Given the description of an element on the screen output the (x, y) to click on. 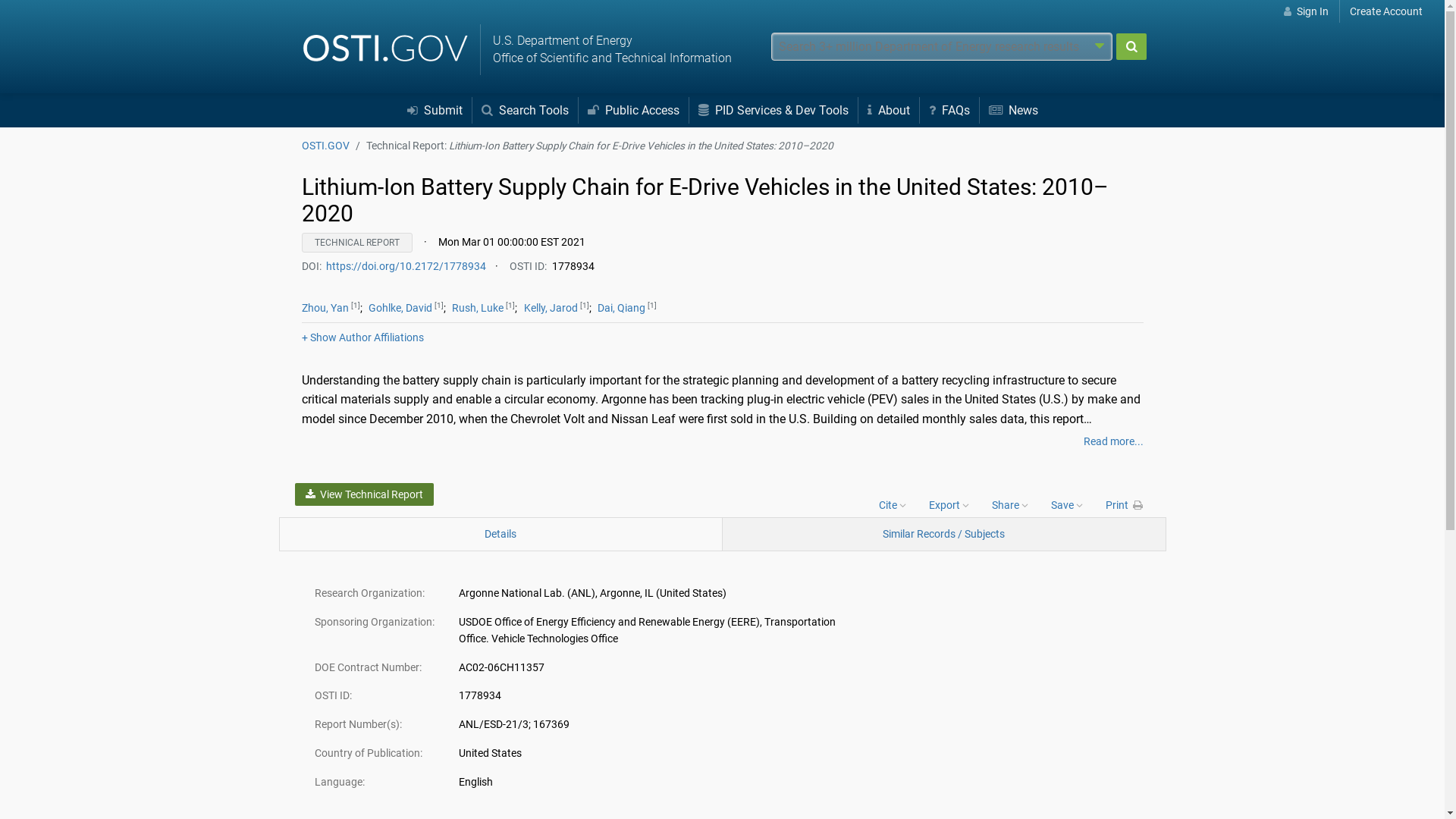
Advanced search options (1099, 46)
Public Access (632, 110)
View Technical Report (364, 494)
Create Account (1385, 11)
Submit (1131, 46)
About (888, 110)
Cite (891, 504)
FAQs (948, 110)
Search Tools (523, 110)
News (1012, 110)
Sign In (1306, 11)
OSTI.GOV (325, 145)
Submit (433, 110)
Read more... (1112, 440)
